Given the description of an element on the screen output the (x, y) to click on. 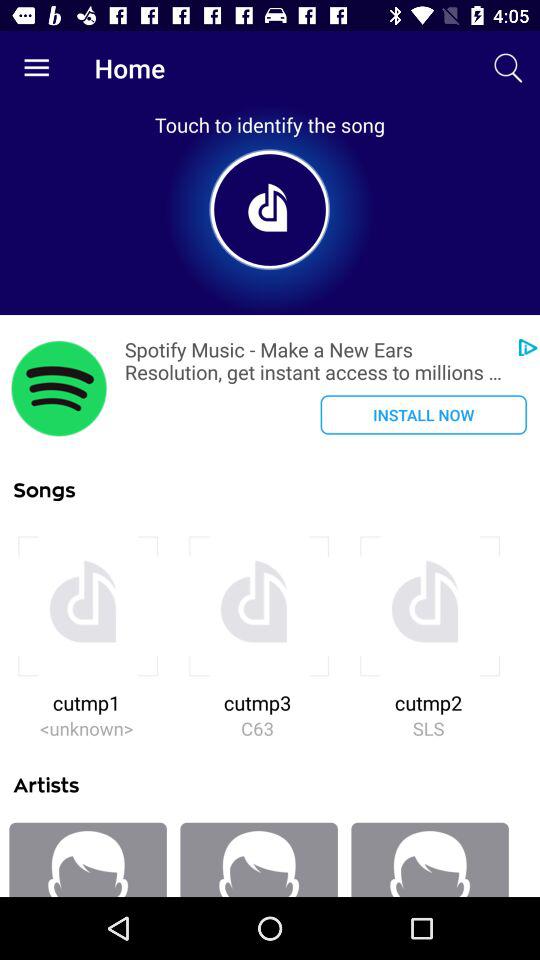
app logo (59, 388)
